Given the description of an element on the screen output the (x, y) to click on. 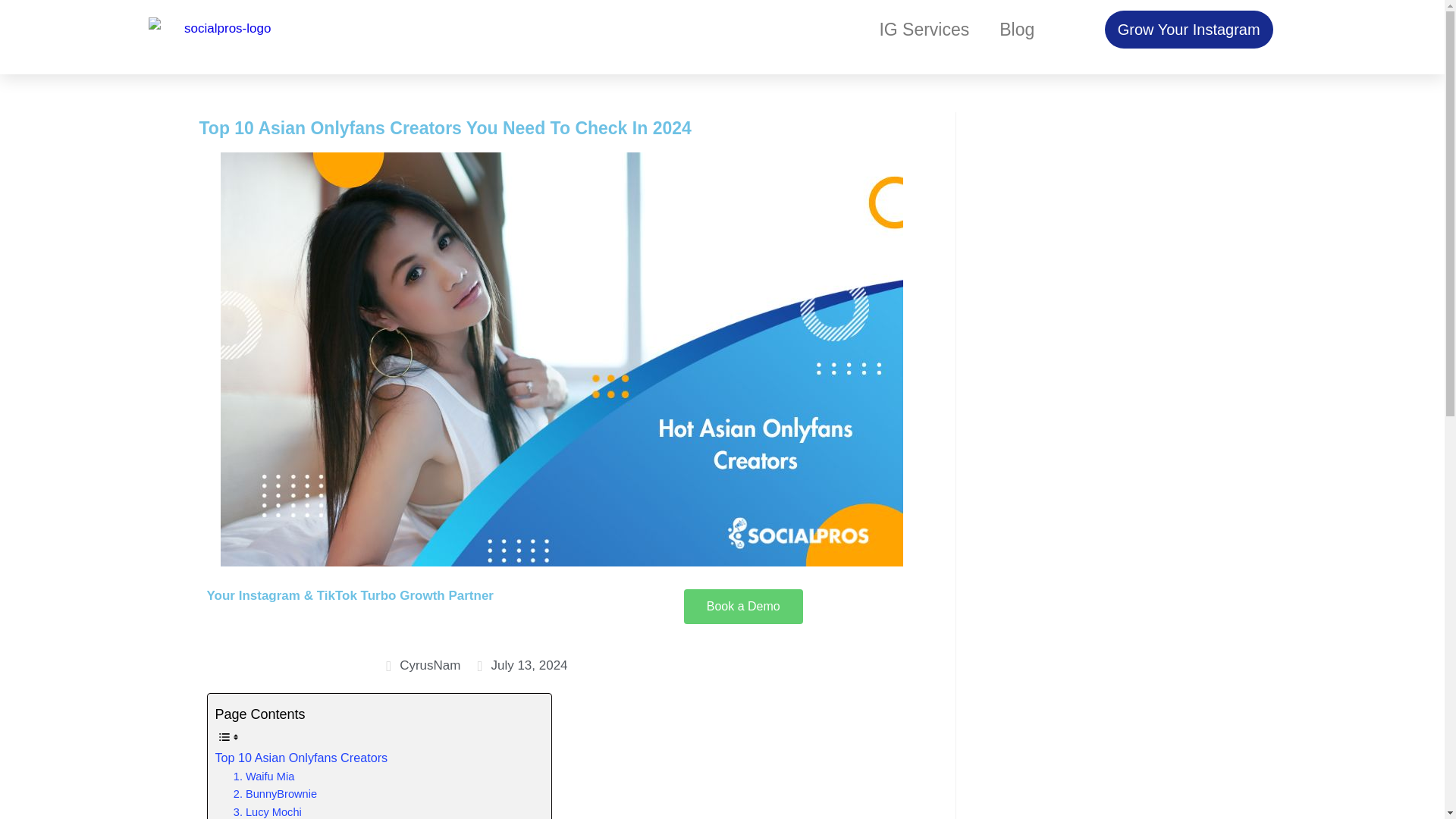
Grow Your Instagram (1188, 29)
3. Lucy Mochi (266, 811)
Blog (1016, 29)
2. BunnyBrownie (274, 794)
1. Waifu Mia (263, 776)
IG Services (923, 29)
